Given the description of an element on the screen output the (x, y) to click on. 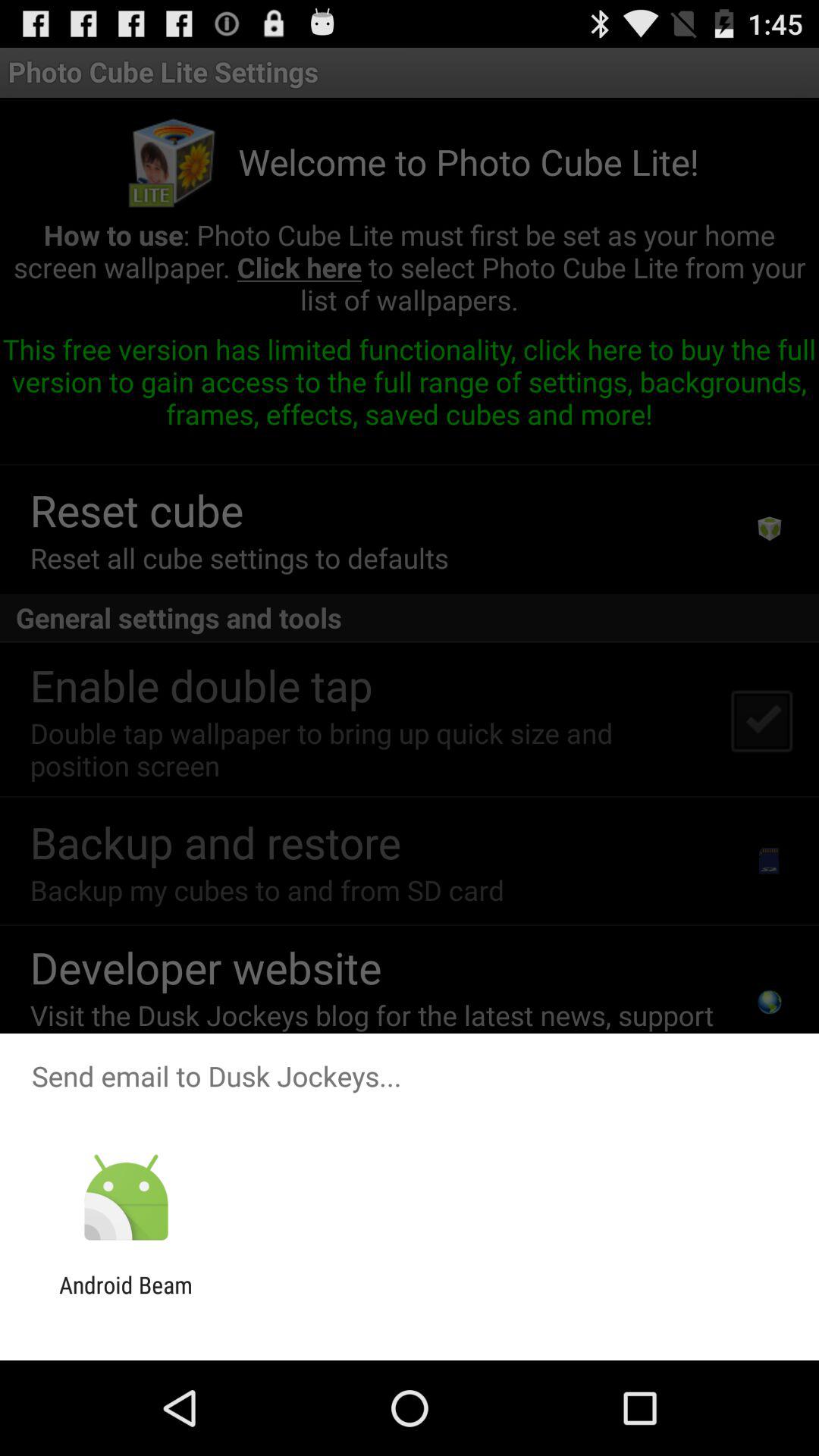
launch the android beam (125, 1298)
